Given the description of an element on the screen output the (x, y) to click on. 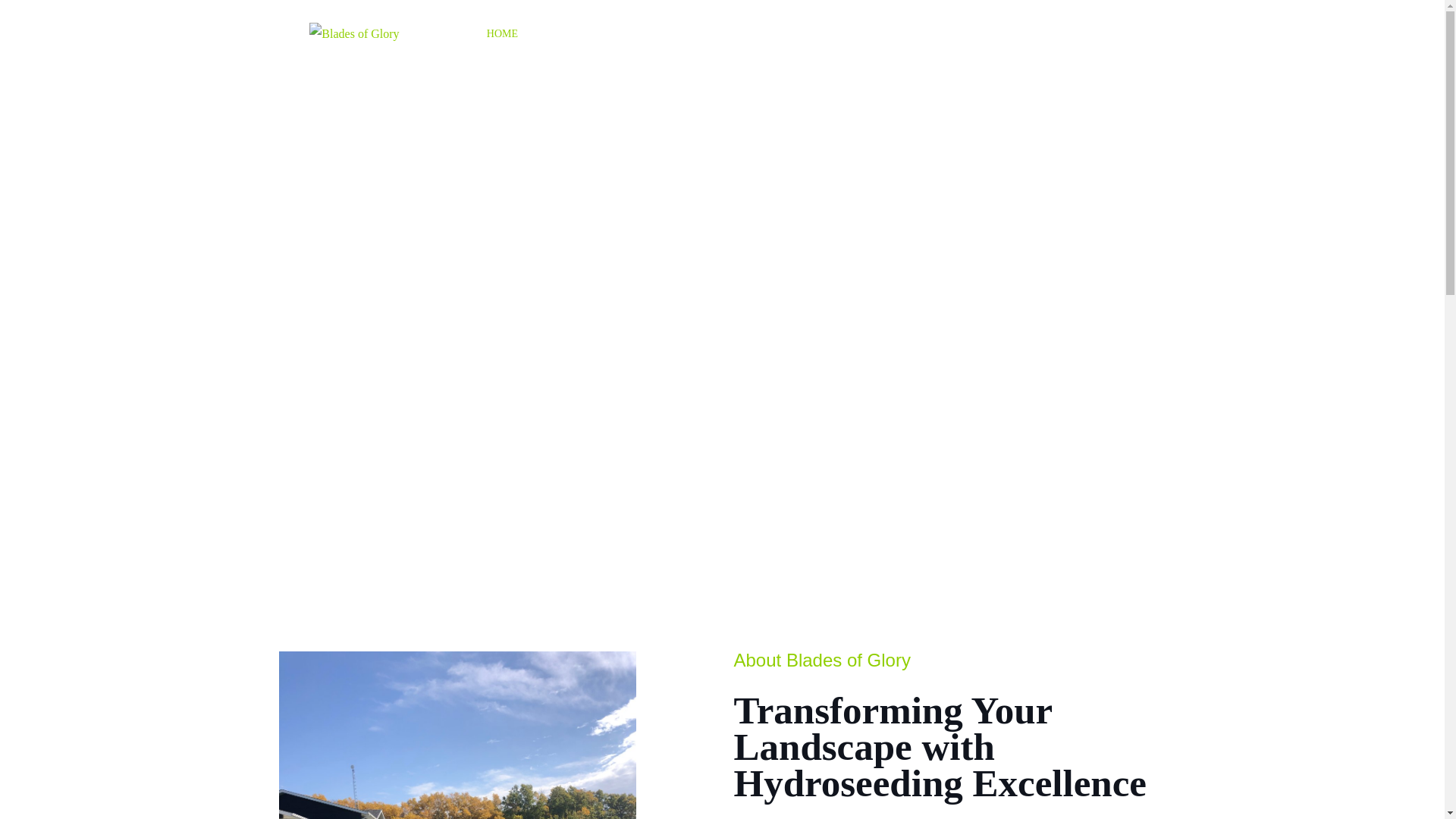
CONTACT (1065, 33)
SERVICES (705, 33)
EROSION CONTROL AND SLOPES (842, 33)
HYDROSEED VS SOD (598, 33)
HOME (502, 33)
OUR WORK (982, 33)
